Given the description of an element on the screen output the (x, y) to click on. 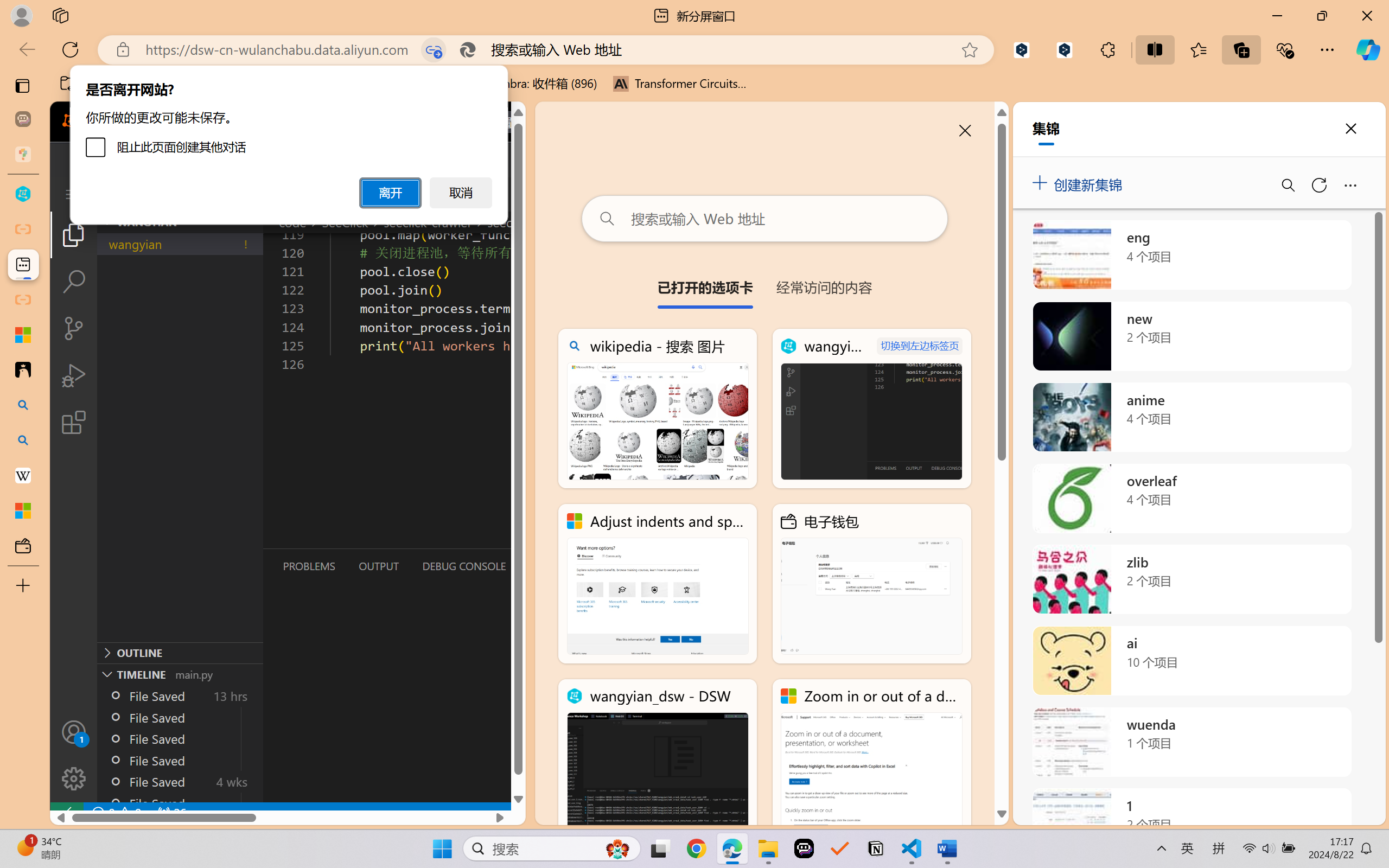
Accounts - Sign in requested (73, 732)
Adjust indents and spacing - Microsoft Support (657, 583)
wangyian_webcrawler - DSW (871, 408)
